Given the description of an element on the screen output the (x, y) to click on. 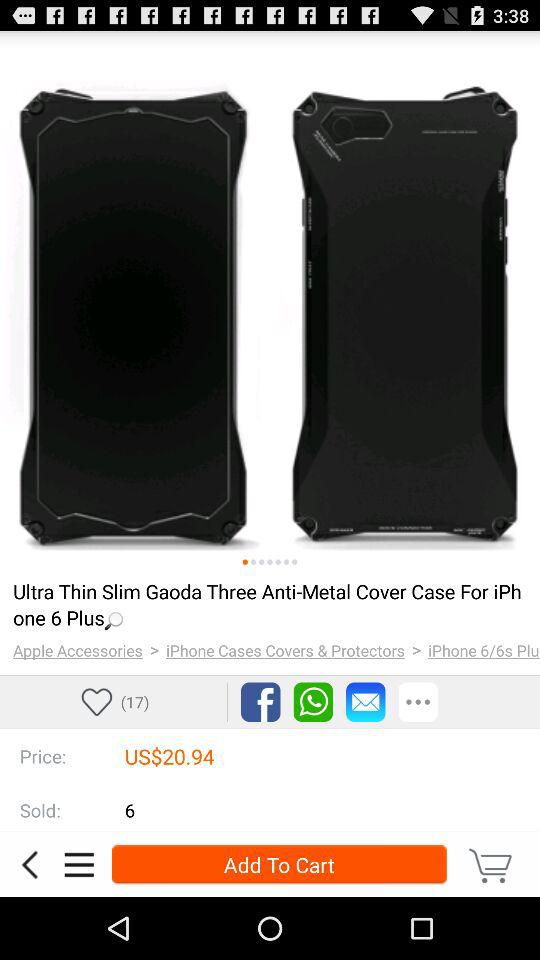
click the 3 dots (418, 701)
